Given the description of an element on the screen output the (x, y) to click on. 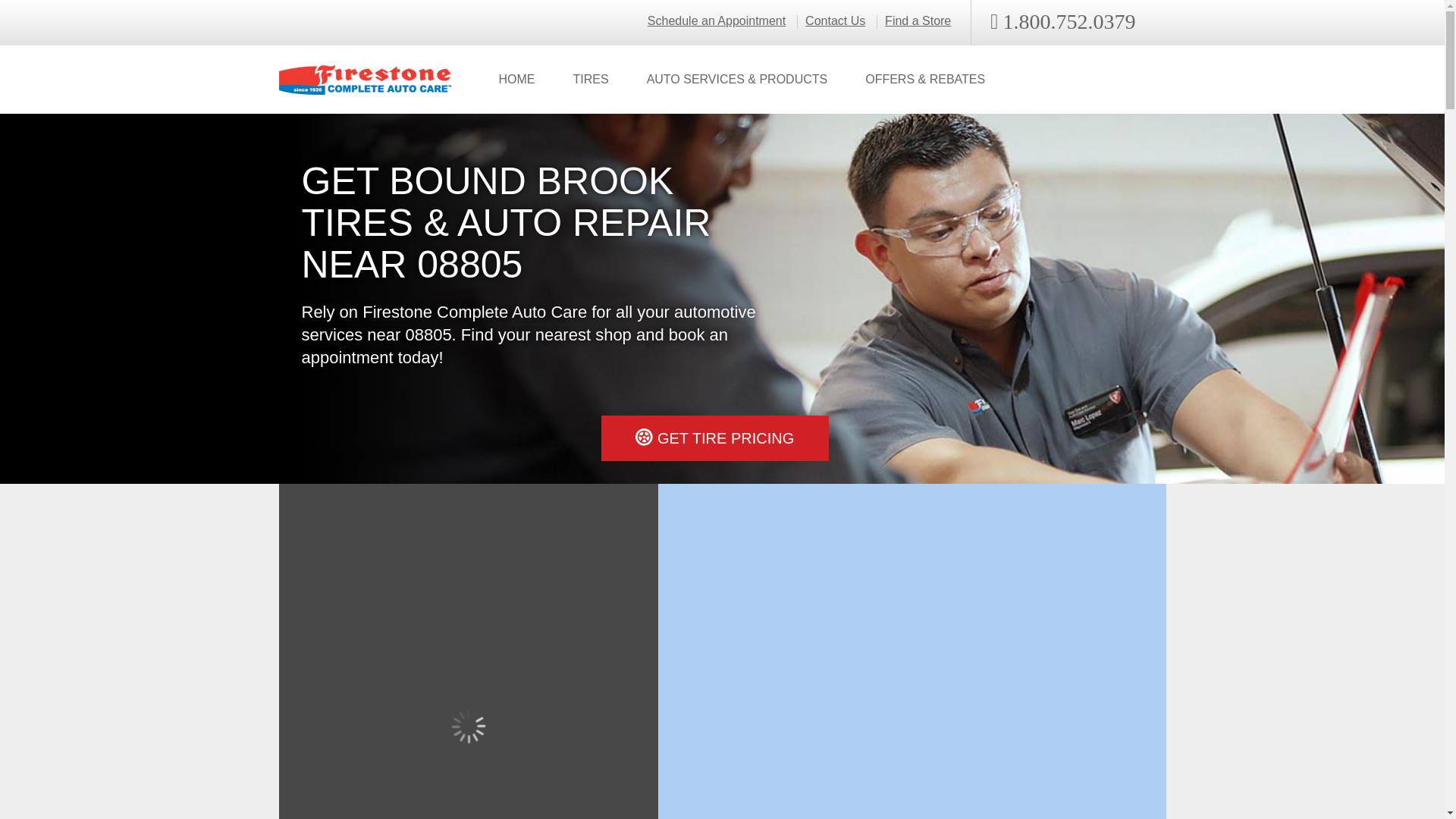
Firestone Complete Auto Care (365, 80)
Contact Us (834, 20)
Find a Store (918, 20)
1.800.752.0379 (1062, 22)
GET TIRE PRICING (713, 438)
Schedule an Appointment (716, 20)
TIRES (590, 79)
HOME (516, 79)
